Given the description of an element on the screen output the (x, y) to click on. 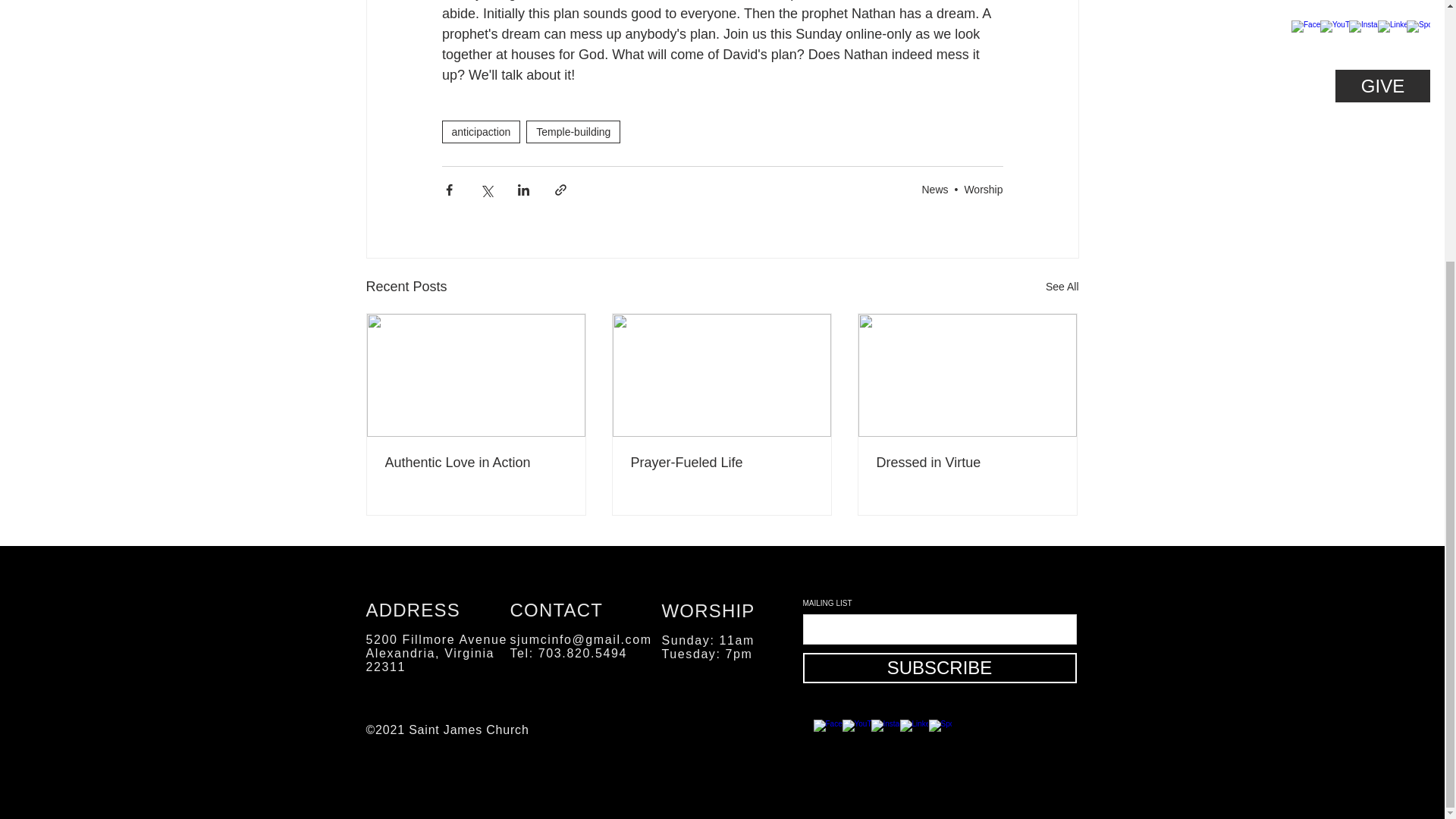
See All (1061, 287)
Temple-building (572, 131)
SUBSCRIBE (938, 667)
anticipaction (480, 131)
News (934, 189)
Authentic Love in Action (476, 462)
Prayer-Fueled Life (721, 462)
Worship (983, 189)
Dressed in Virtue (967, 462)
